Given the description of an element on the screen output the (x, y) to click on. 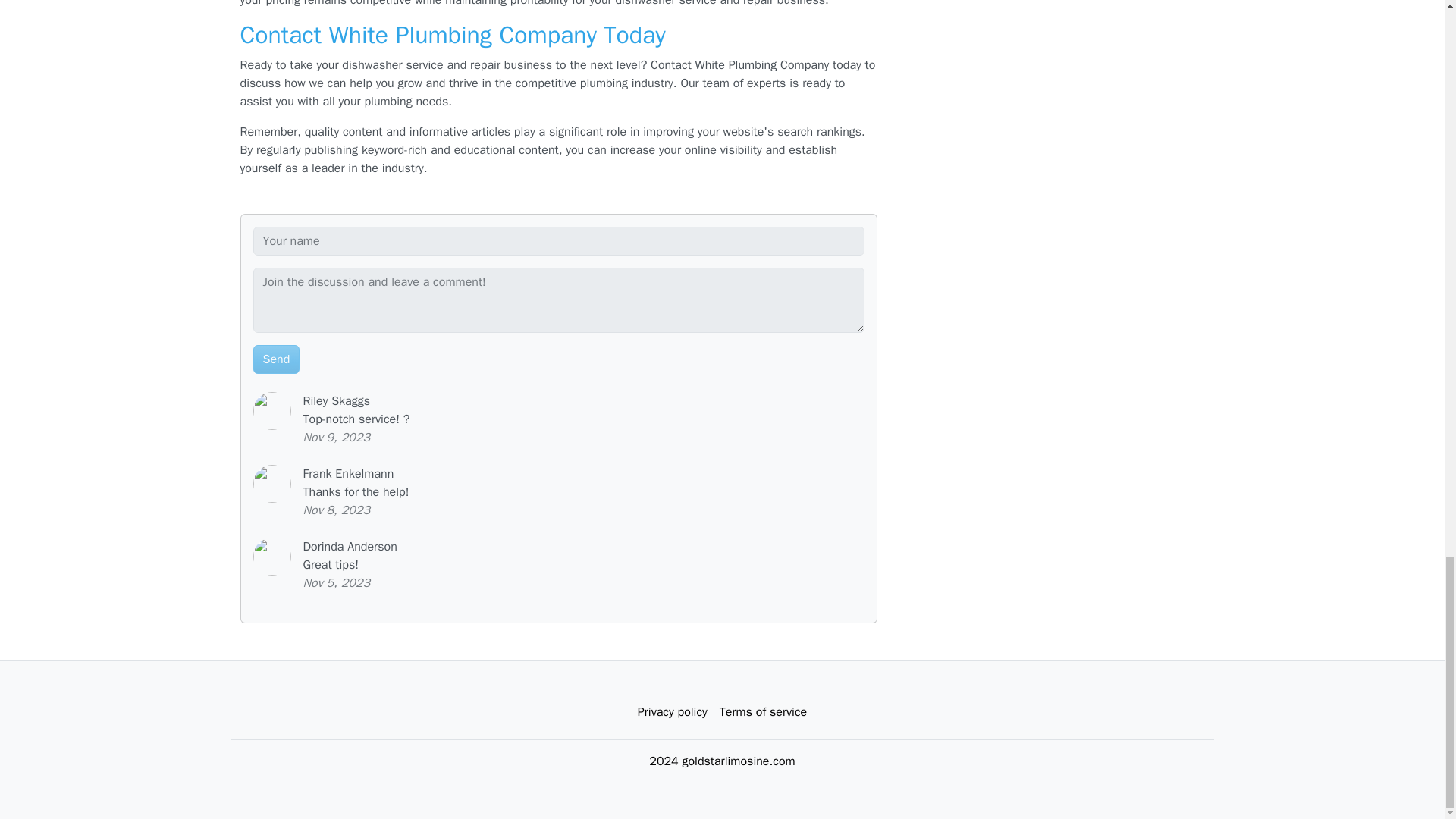
Send (276, 358)
Send (276, 358)
Privacy policy (672, 711)
Terms of service (762, 711)
